Given the description of an element on the screen output the (x, y) to click on. 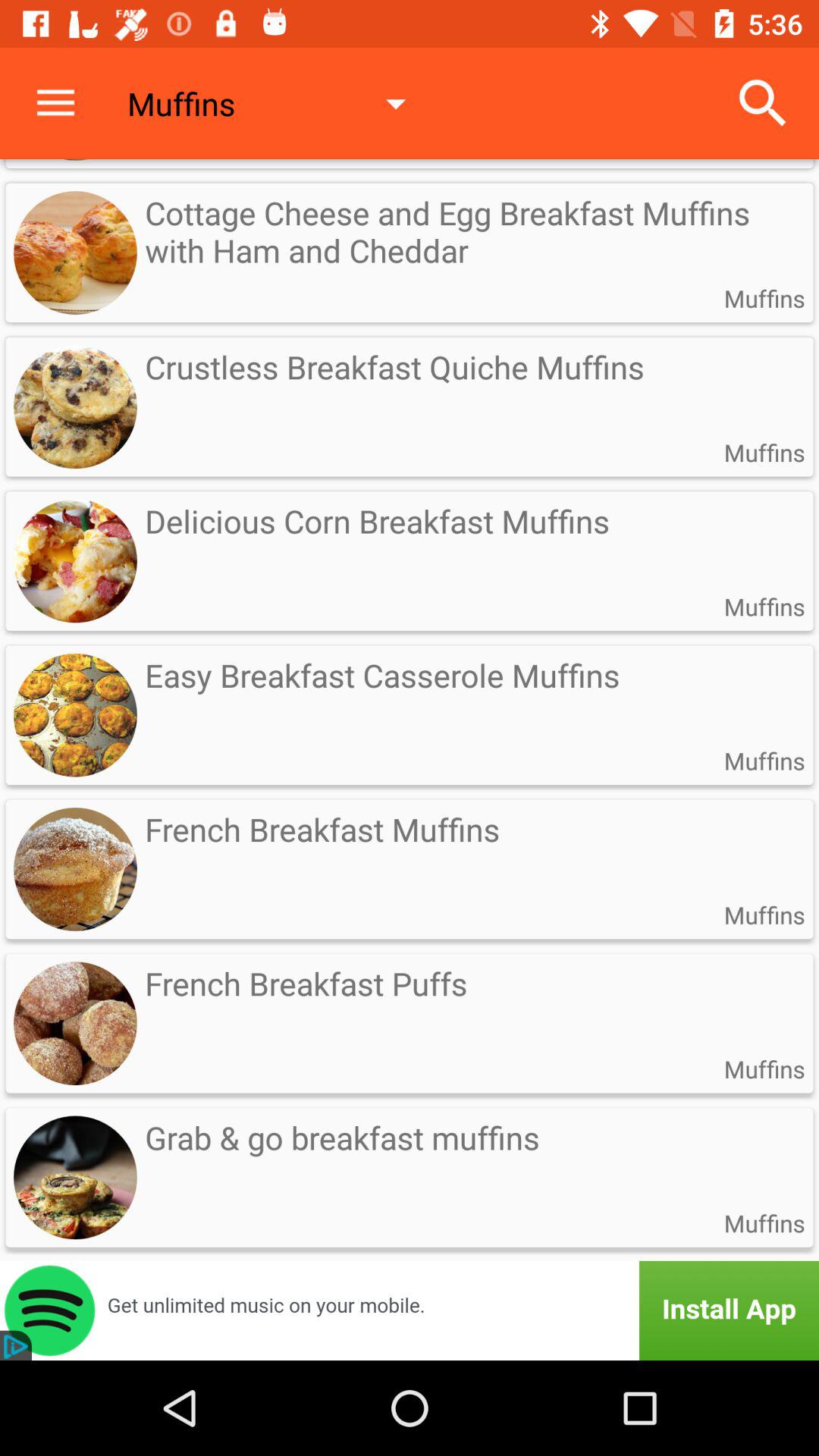
view advertisement (409, 1310)
